Given the description of an element on the screen output the (x, y) to click on. 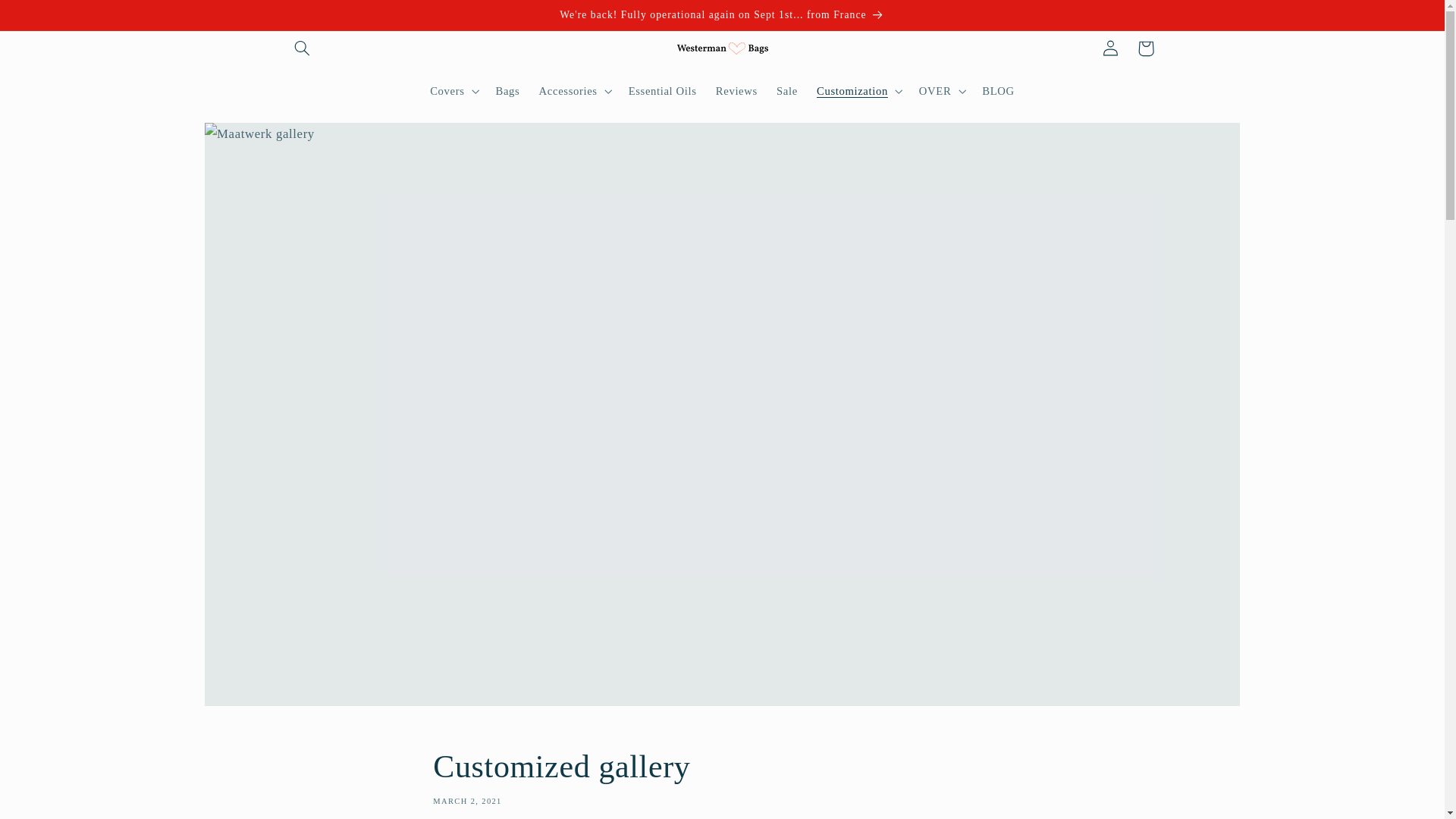
Skip to content (48, 18)
